Given the description of an element on the screen output the (x, y) to click on. 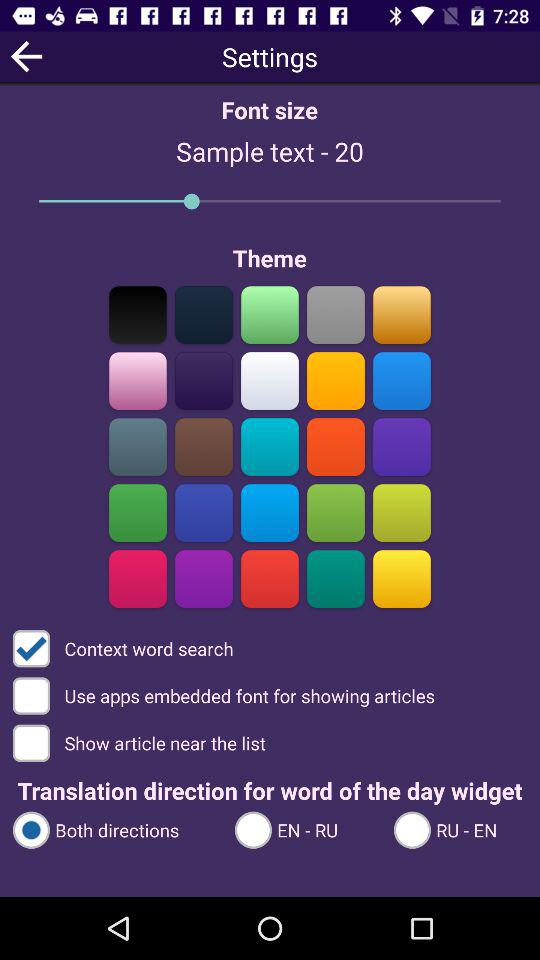
select theme color (203, 578)
